Given the description of an element on the screen output the (x, y) to click on. 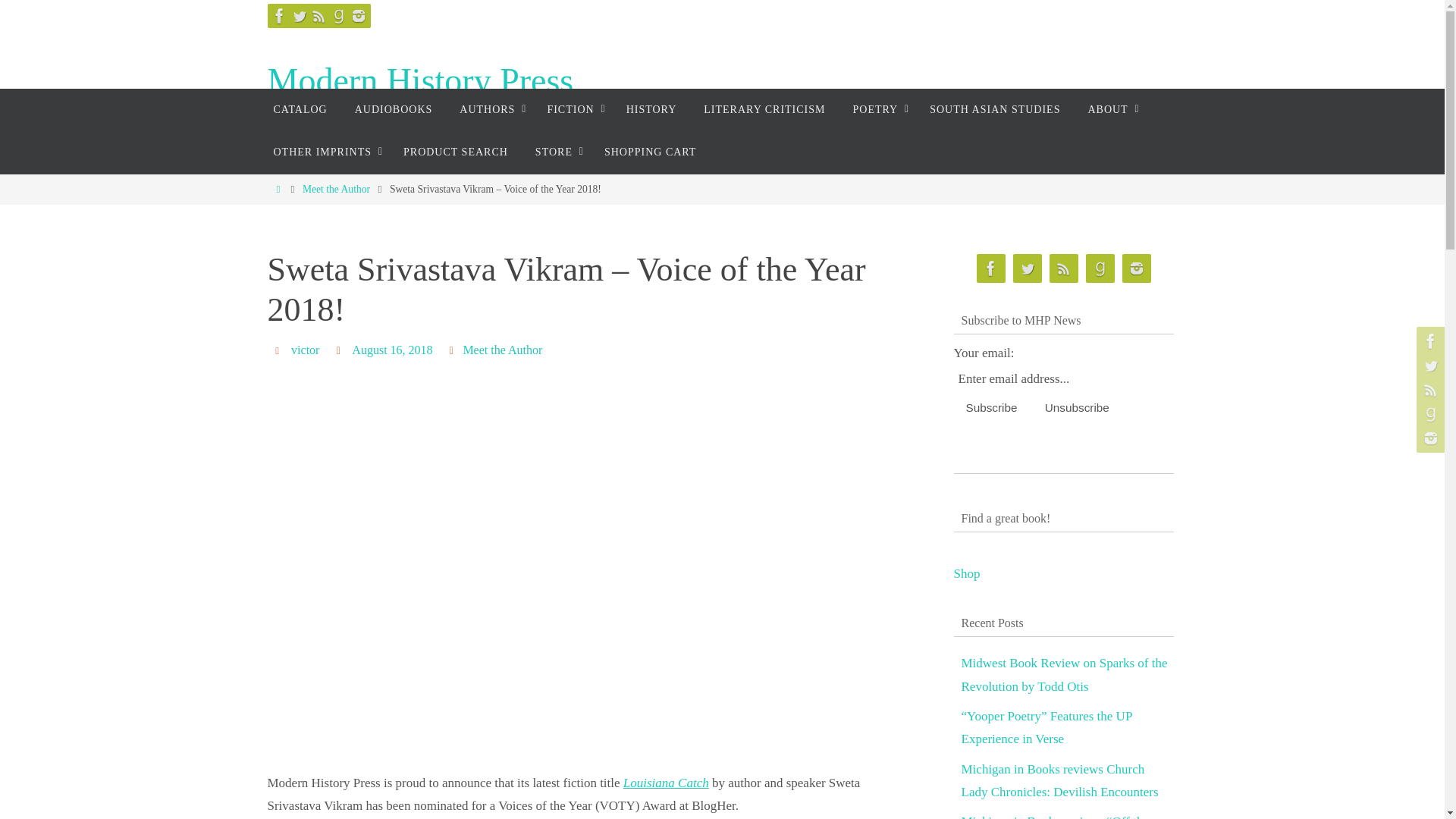
Facebook (278, 15)
Instagram (357, 15)
POETRY (878, 109)
Modern History Press (419, 81)
RSS (317, 15)
AUTHORS (488, 109)
Goodreads (338, 15)
Twitter (298, 15)
AUDIOBOOKS (393, 109)
CATALOG (299, 109)
LITERARY CRITICISM (764, 109)
FICTION (571, 109)
Unsubscribe (1076, 408)
HISTORY (651, 109)
Subscribe (991, 408)
